Given the description of an element on the screen output the (x, y) to click on. 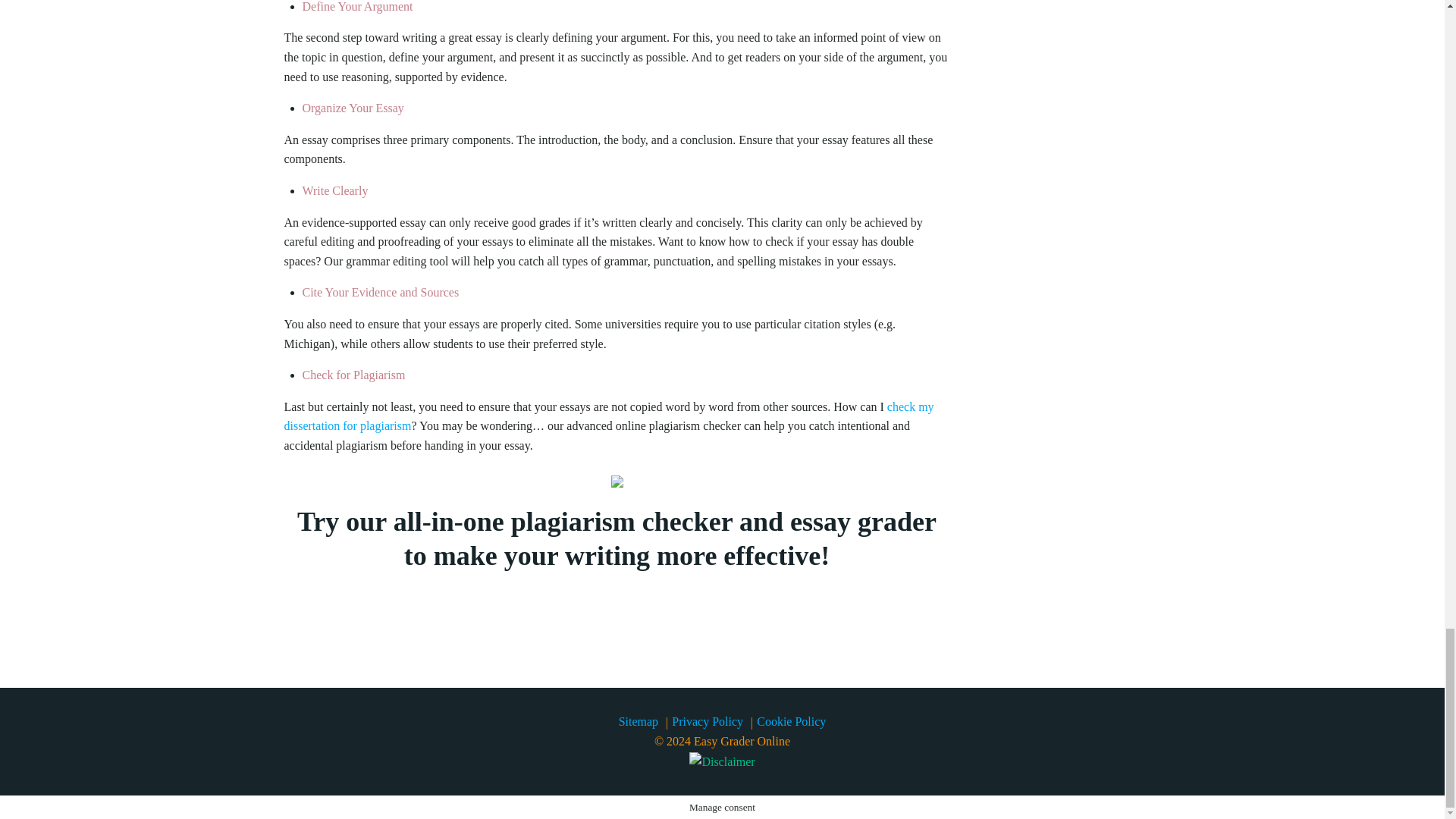
Privacy Policy (706, 721)
Cookie Policy (791, 721)
check my dissertation for plagiarism (608, 416)
Sitemap (638, 721)
